Given the description of an element on the screen output the (x, y) to click on. 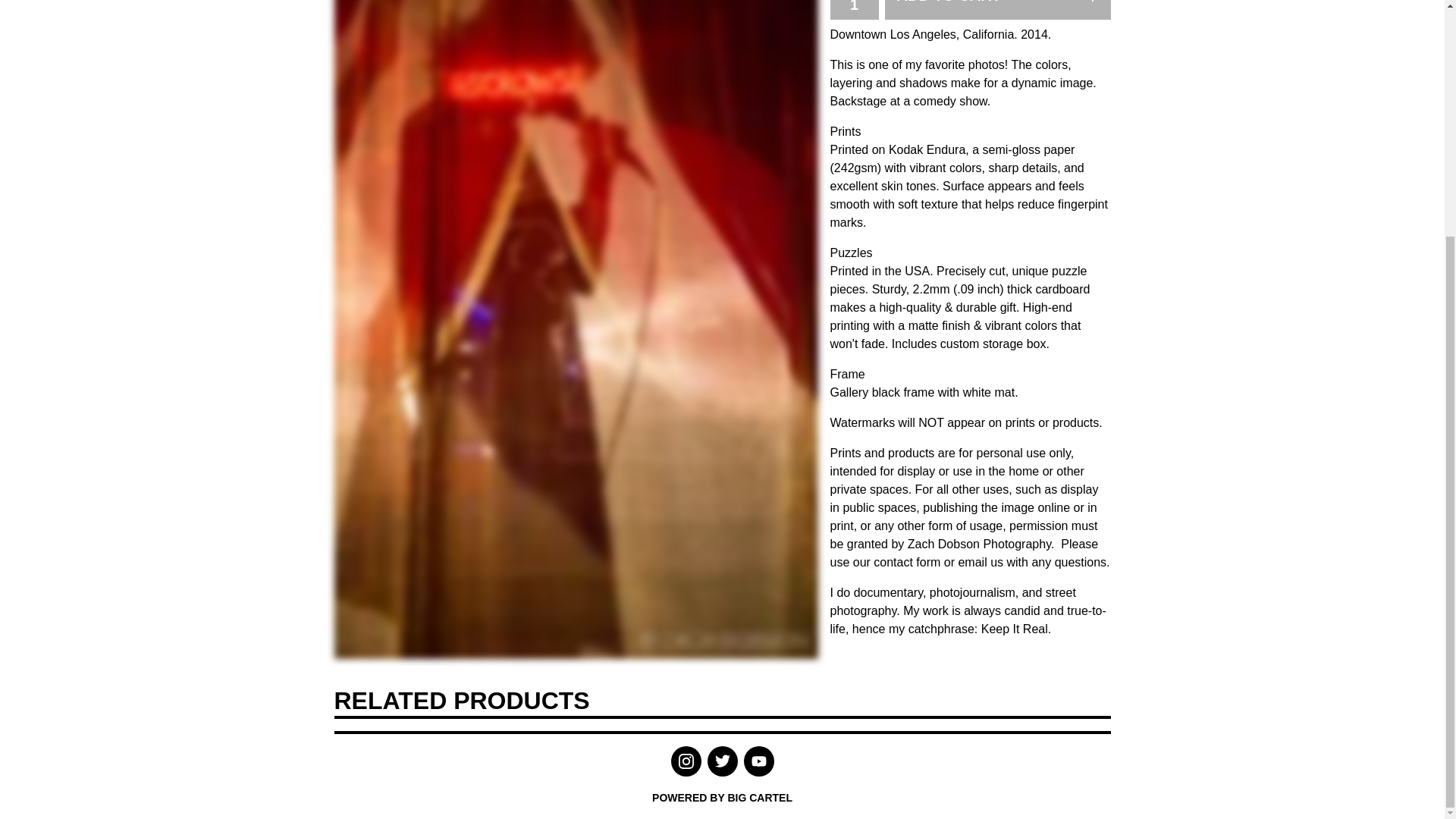
ADD TO CART (996, 9)
Add to Cart (996, 9)
1 (853, 6)
